Given the description of an element on the screen output the (x, y) to click on. 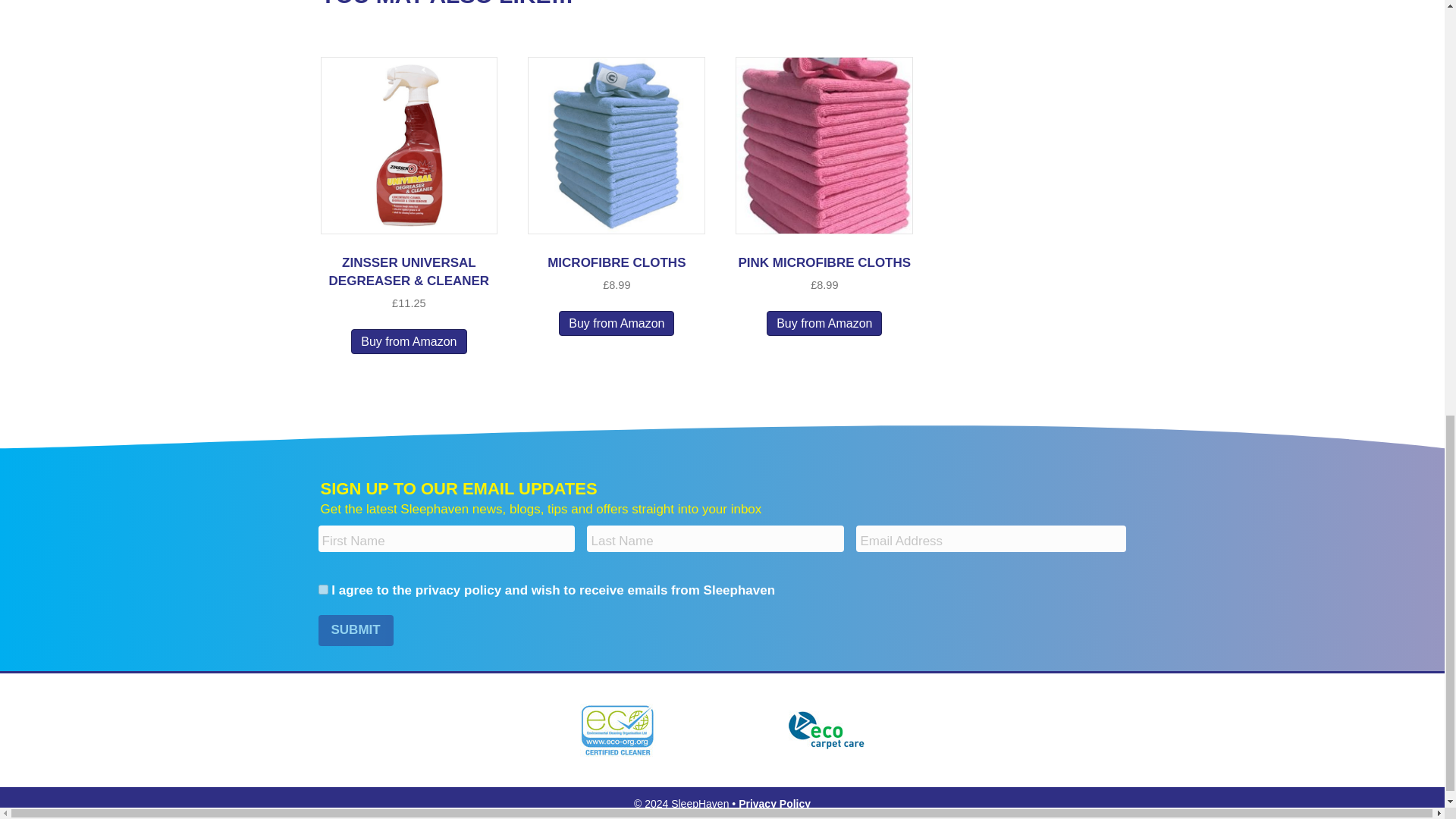
Submit (355, 630)
ecocarpet (826, 729)
1 (323, 589)
